Given the description of an element on the screen output the (x, y) to click on. 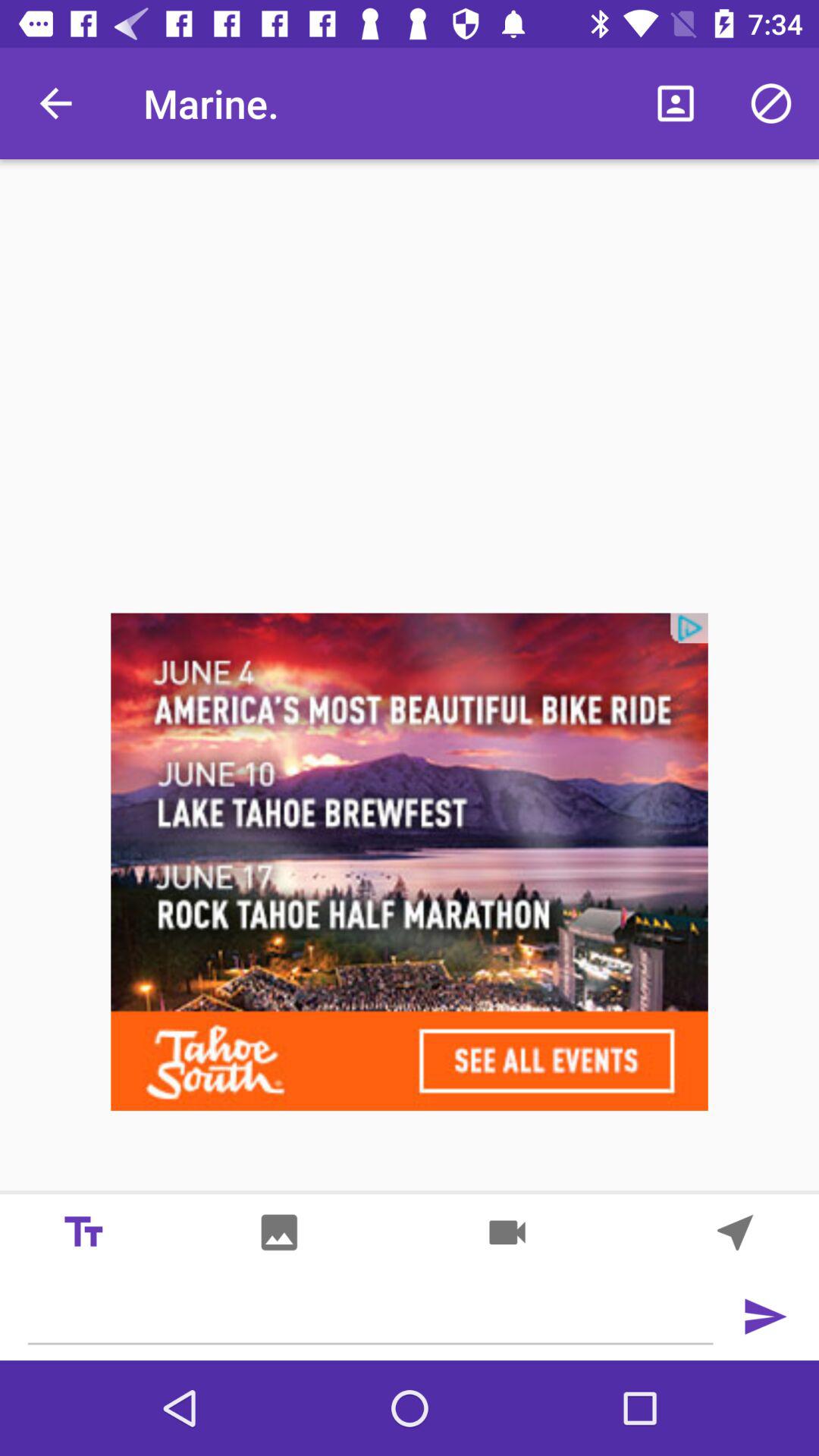
select the vedio (507, 1232)
